Given the description of an element on the screen output the (x, y) to click on. 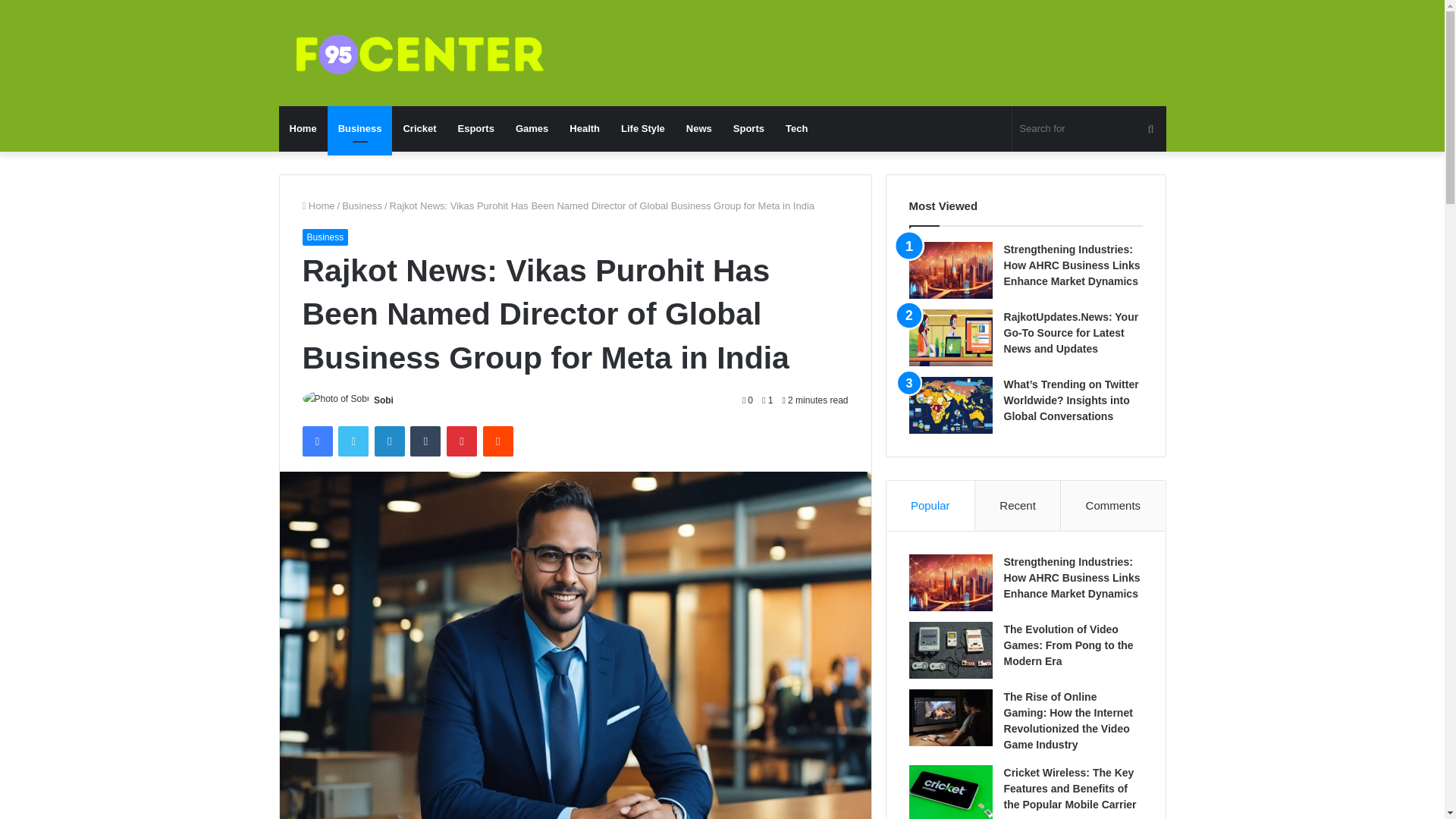
Pinterest (461, 440)
News (698, 128)
f95center (419, 55)
Twitter (352, 440)
Business (361, 205)
LinkedIn (389, 440)
Sobi (383, 399)
Reddit (498, 440)
LinkedIn (389, 440)
Twitter (352, 440)
Search for (1088, 128)
Home (303, 128)
Business (324, 237)
Health (584, 128)
Pinterest (461, 440)
